Given the description of an element on the screen output the (x, y) to click on. 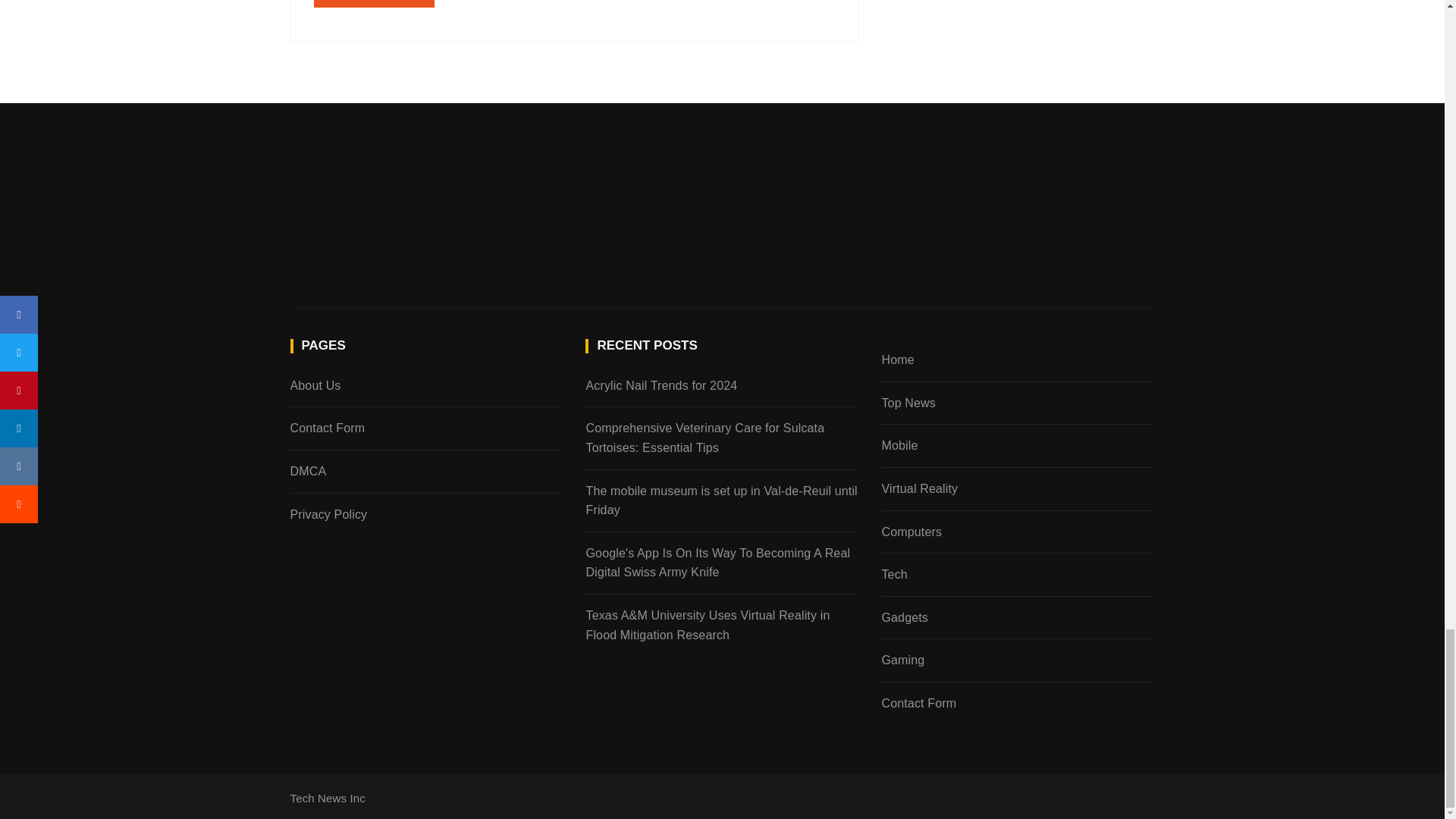
Post Comment (374, 3)
Post Comment (374, 3)
